Given the description of an element on the screen output the (x, y) to click on. 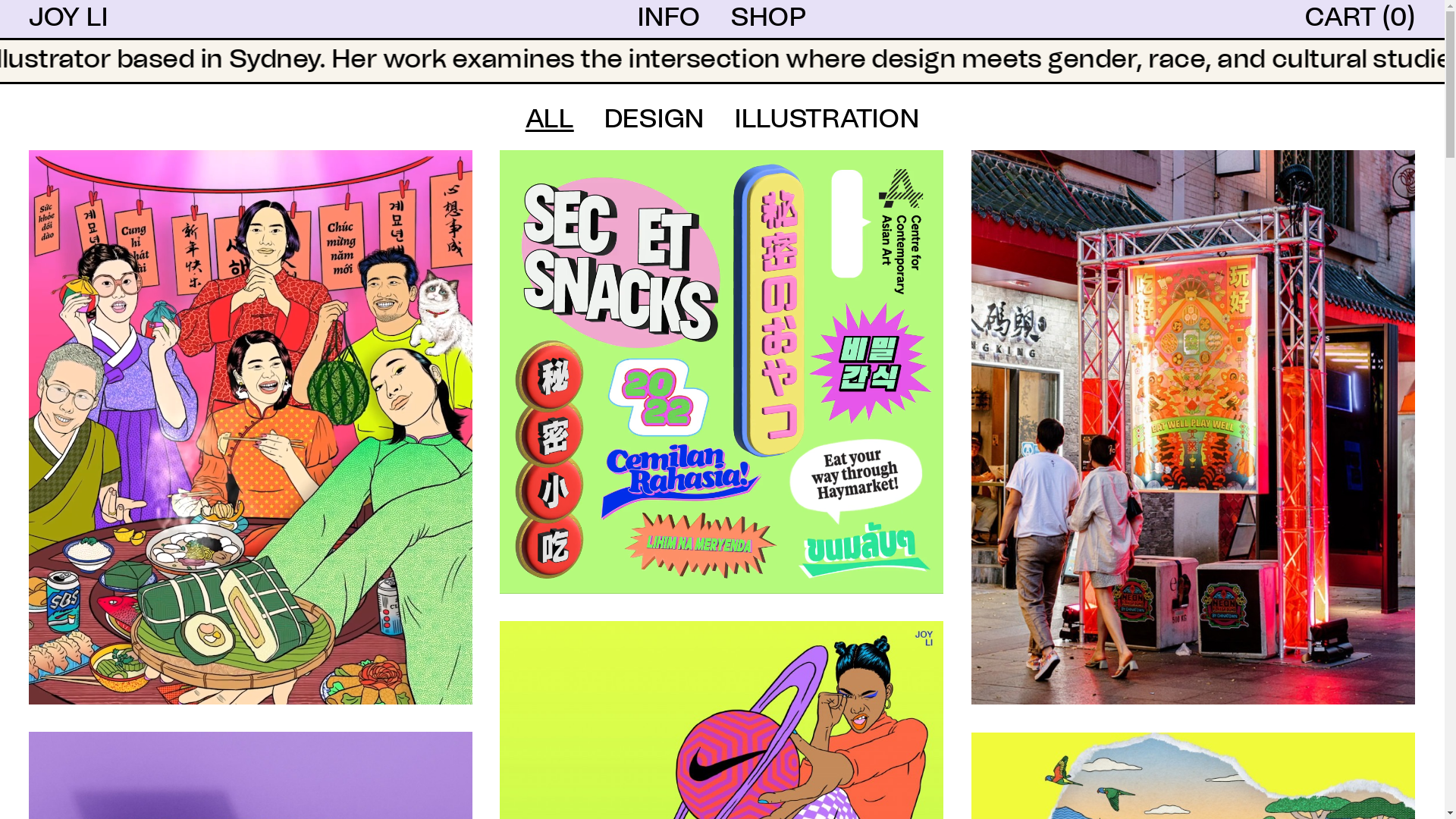
CART (0) Element type: text (1360, 17)
JOY LI Element type: text (67, 17)
SHOP Element type: text (768, 17)
INFO Element type: text (668, 17)
